Given the description of an element on the screen output the (x, y) to click on. 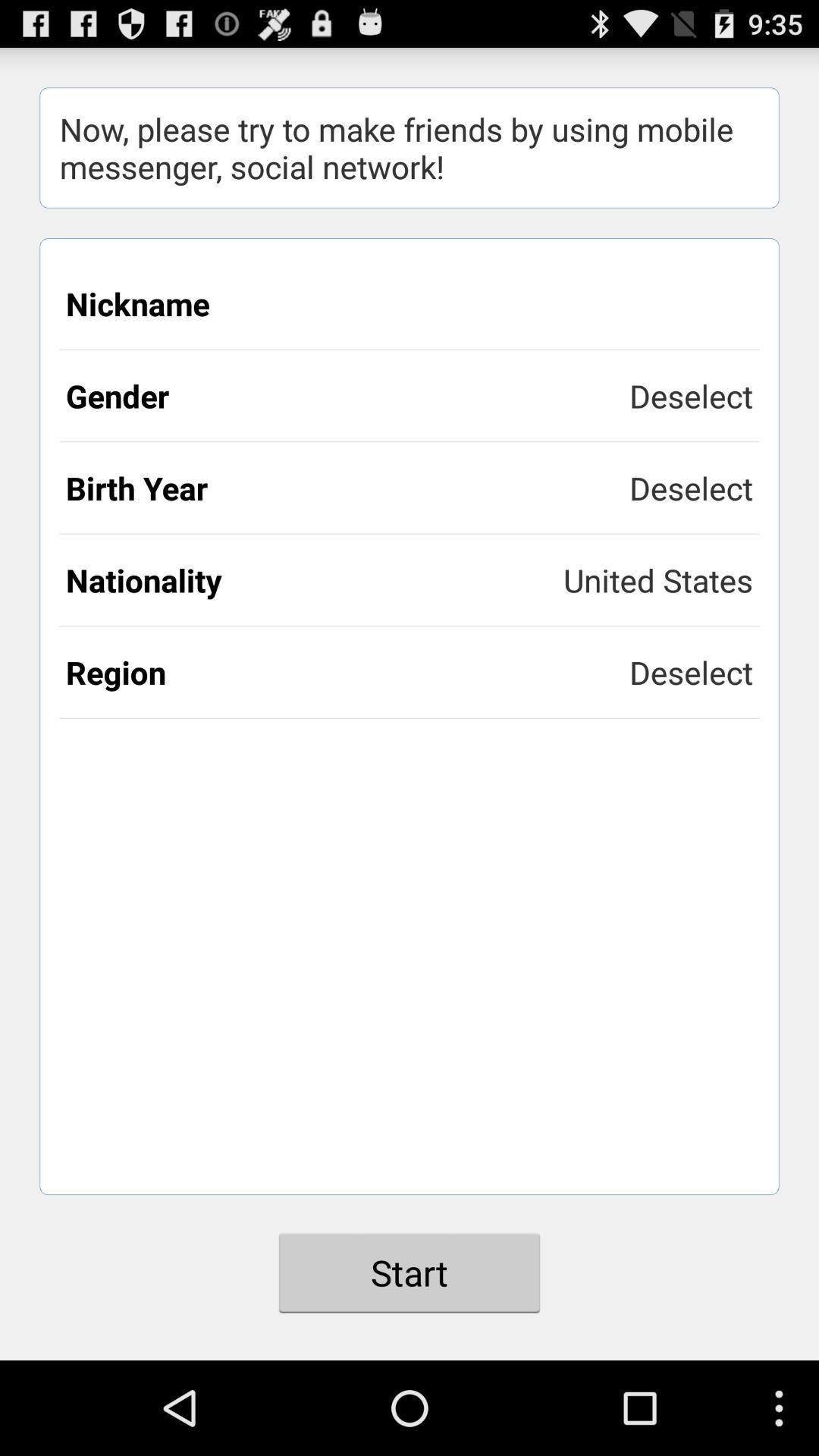
swipe until region (347, 671)
